Given the description of an element on the screen output the (x, y) to click on. 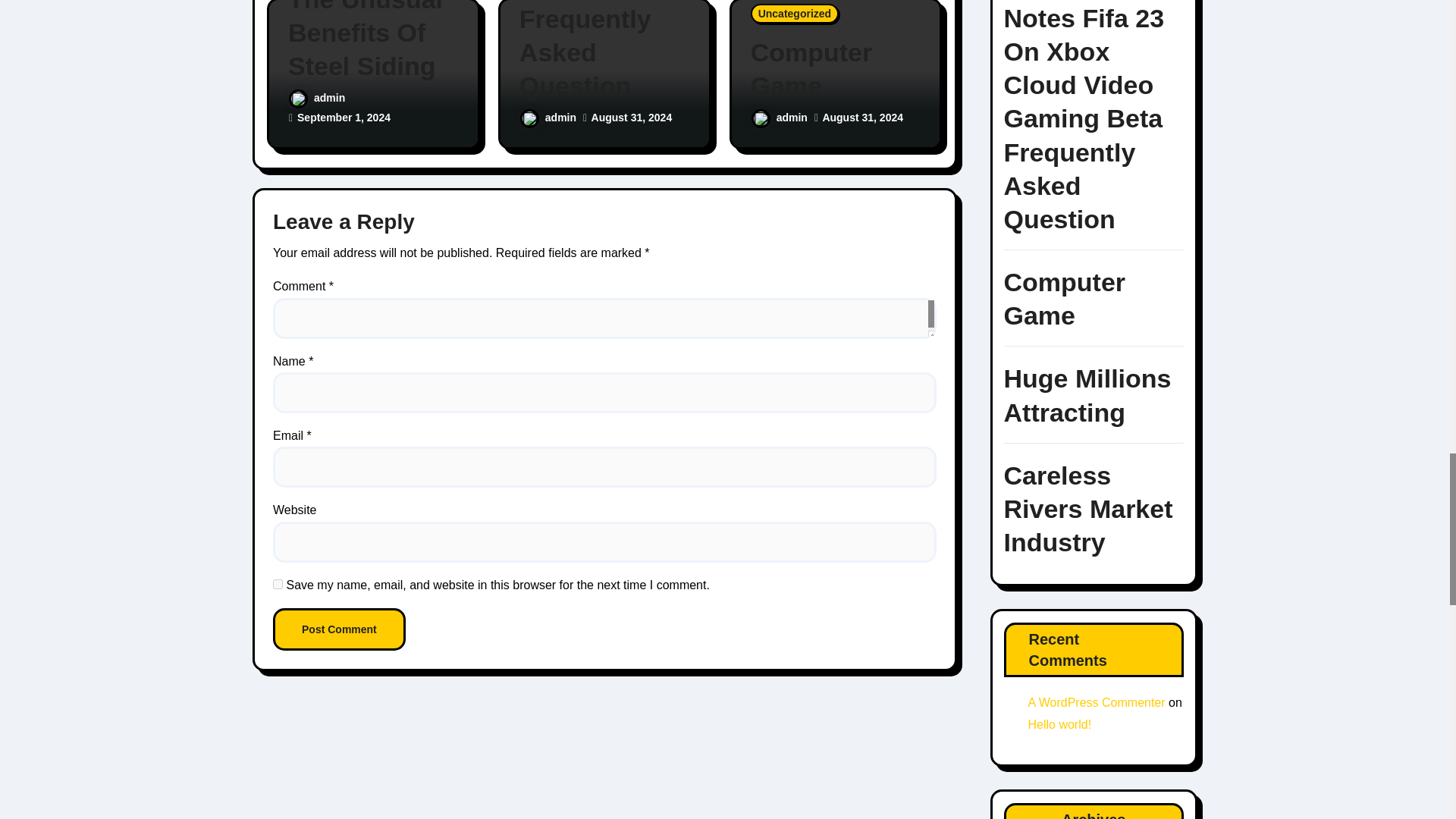
Permalink to: The Unusual Benefits Of Steel Siding (373, 41)
yes (277, 583)
Permalink to: Computer Game (836, 69)
Post Comment (339, 629)
